Given the description of an element on the screen output the (x, y) to click on. 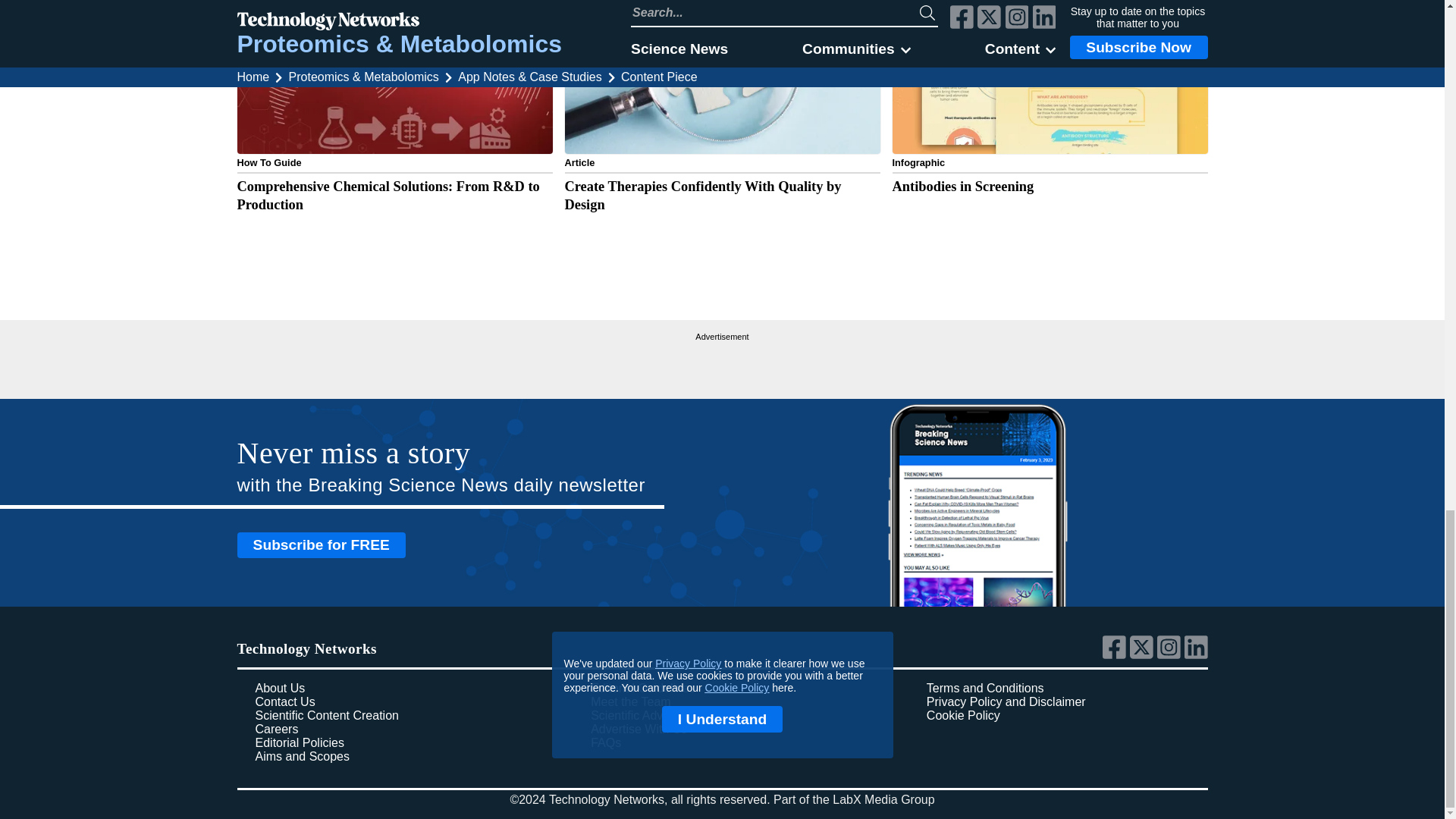
Click to view "Antibodies in Screening" (1049, 123)
Link to Technology Networks' twitter page (1143, 655)
Link to Technology Networks' linkedin page (1196, 655)
Link to Technology Networks' facebook page (1115, 655)
3rd party ad content (721, 363)
Link to Technology Networks' instagram page (1171, 655)
